Given the description of an element on the screen output the (x, y) to click on. 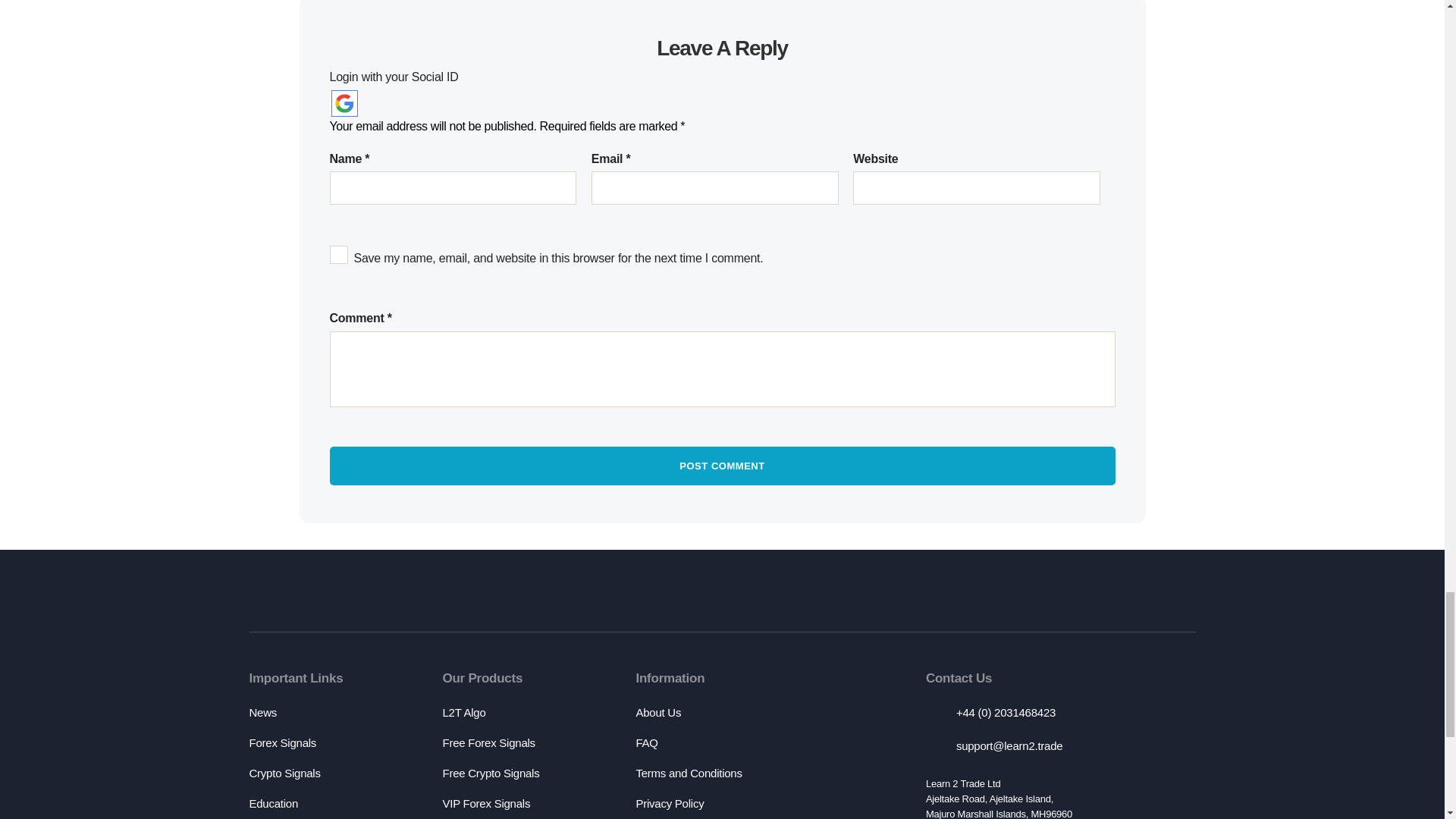
Post Comment (722, 465)
Login with Google (343, 103)
yes (338, 254)
